Given the description of an element on the screen output the (x, y) to click on. 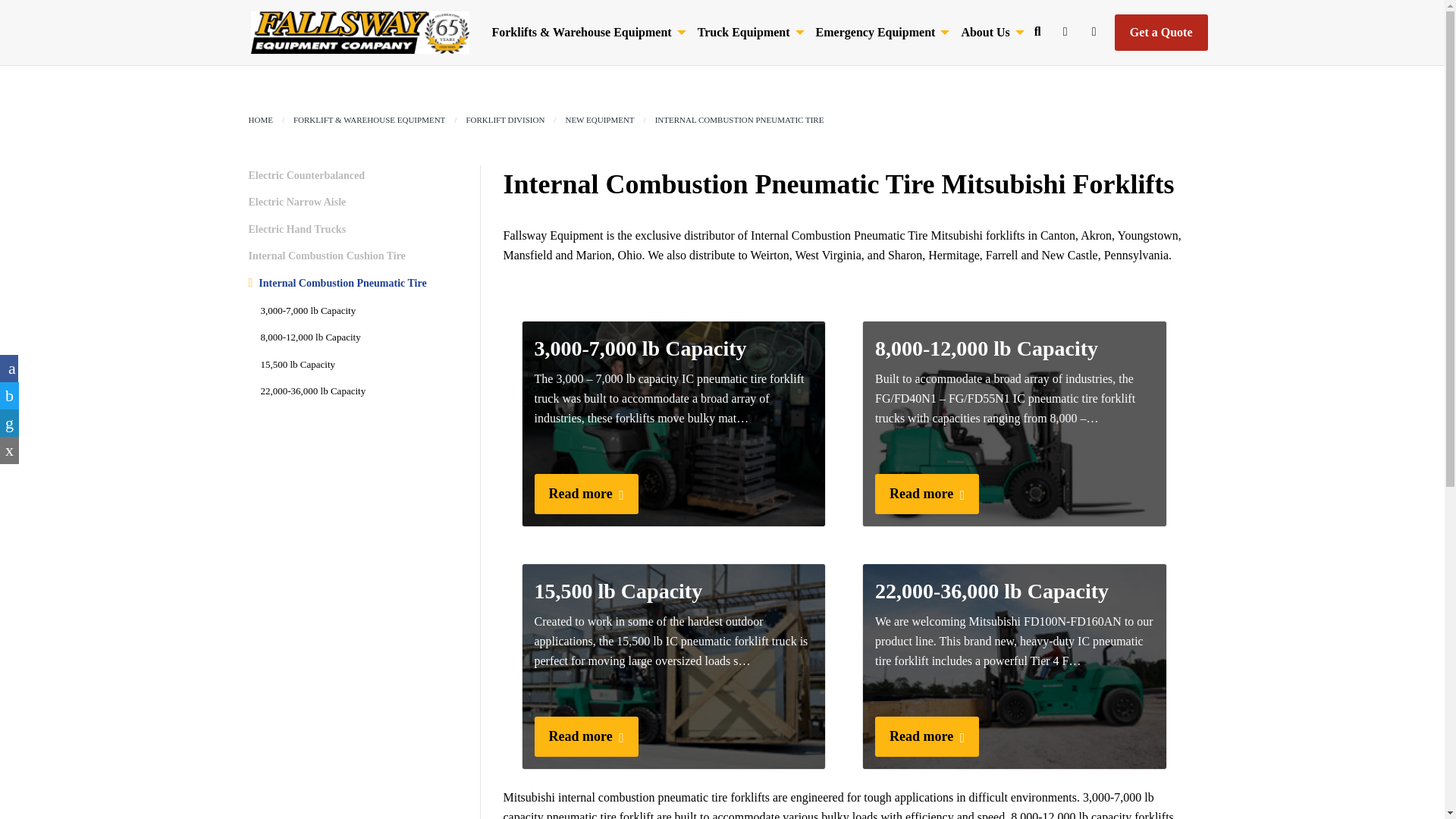
Truck Equipment (749, 32)
Fallsway 65 Year Anniversary Logo (359, 32)
Emergency Equipment (880, 32)
